Given the description of an element on the screen output the (x, y) to click on. 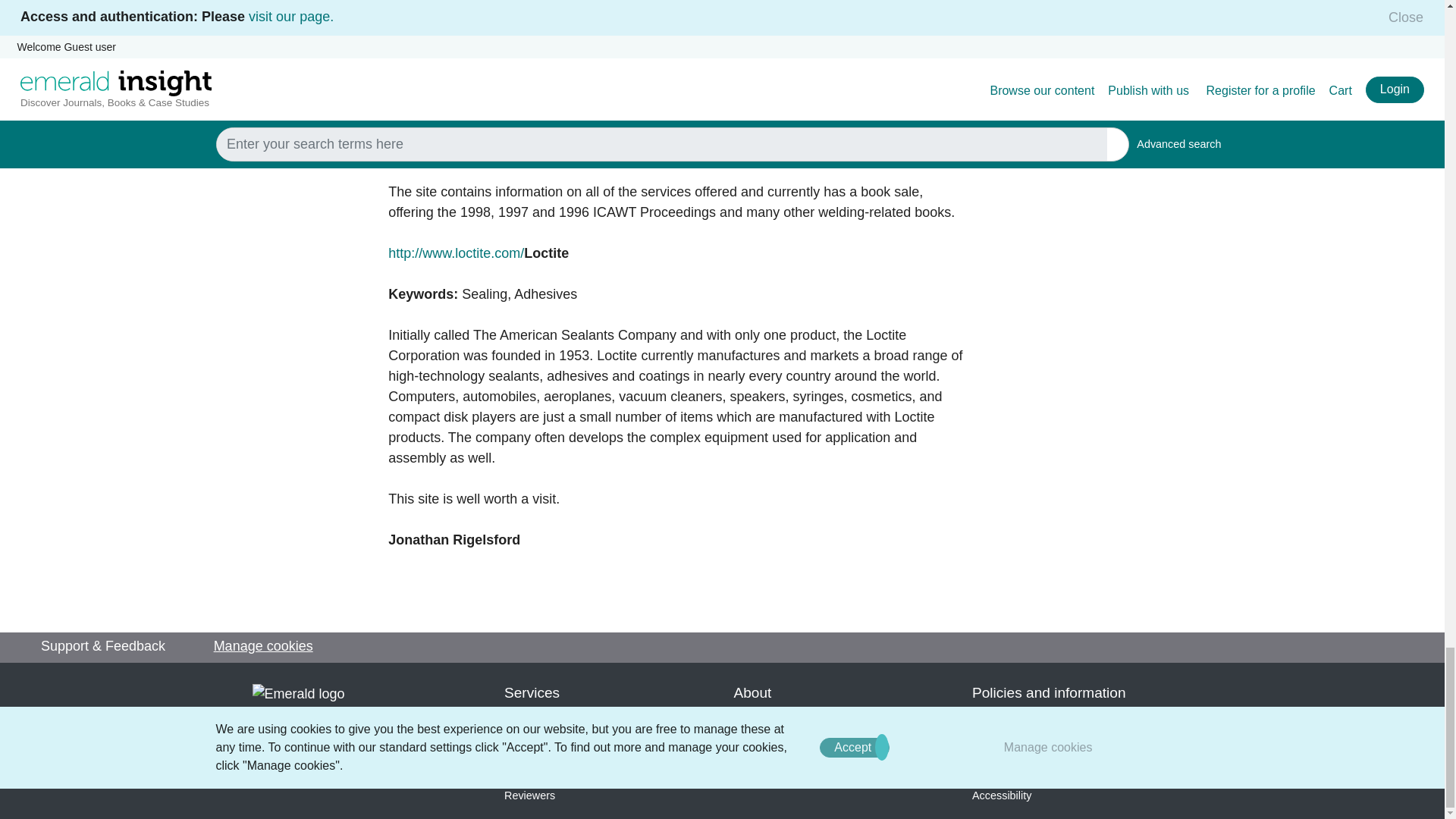
Internet page (291, 312)
Internet page (291, 295)
